Given the description of an element on the screen output the (x, y) to click on. 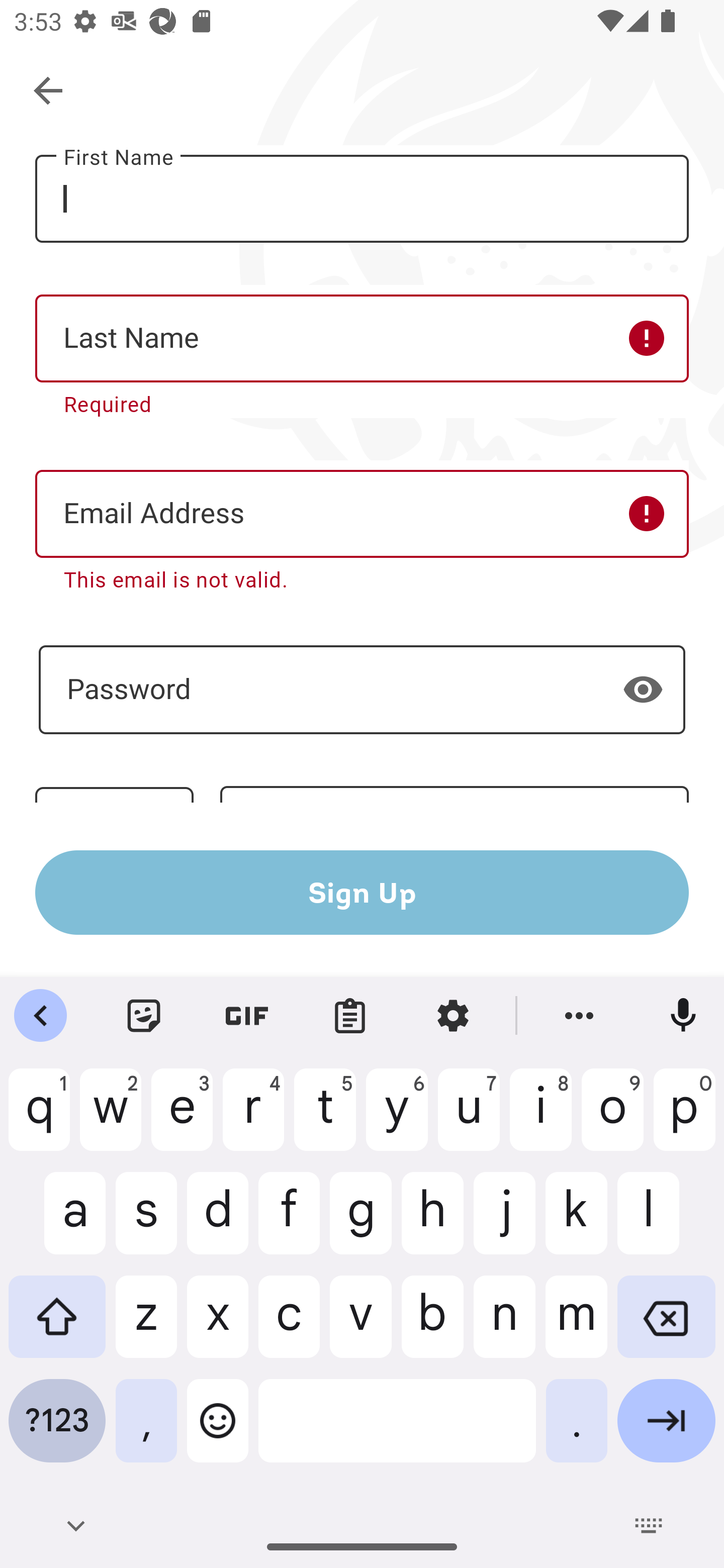
Navigate up (49, 91)
First Name - Required (361, 199)
Last Name - Required (361, 338)
Email Address - Required (361, 514)
- Required (361, 689)
Show password (642, 689)
Sign Up (361, 891)
